Given the description of an element on the screen output the (x, y) to click on. 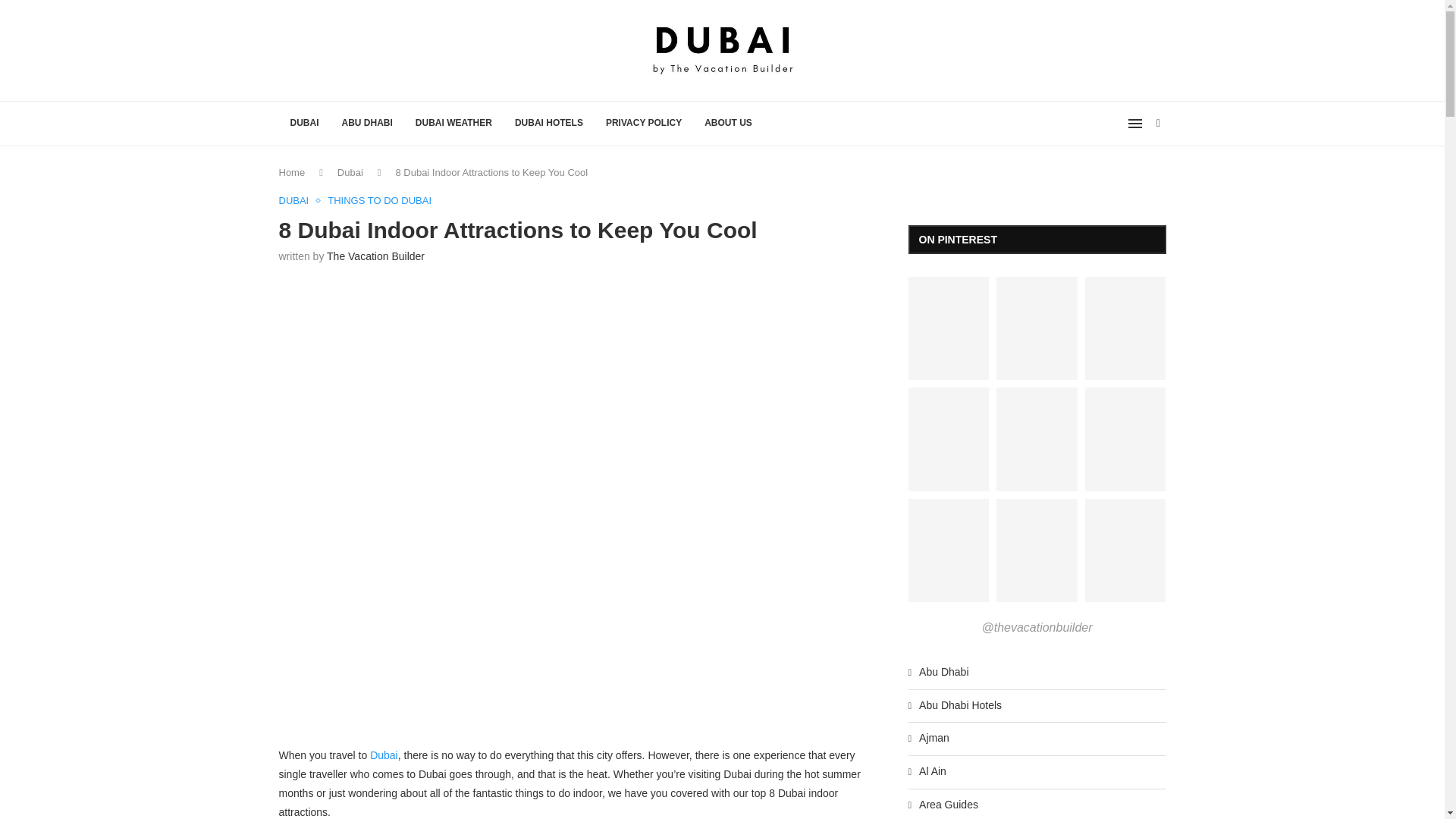
Home (292, 172)
DUBAI (298, 200)
ABOUT US (727, 123)
DUBAI WEATHER (453, 123)
The Vacation Builder (375, 256)
THINGS TO DO DUBAI (378, 200)
DUBAI HOTELS (548, 123)
PRIVACY POLICY (643, 123)
DUBAI (304, 123)
Dubai (349, 172)
Dubai (383, 755)
ABU DHABI (367, 123)
